Given the description of an element on the screen output the (x, y) to click on. 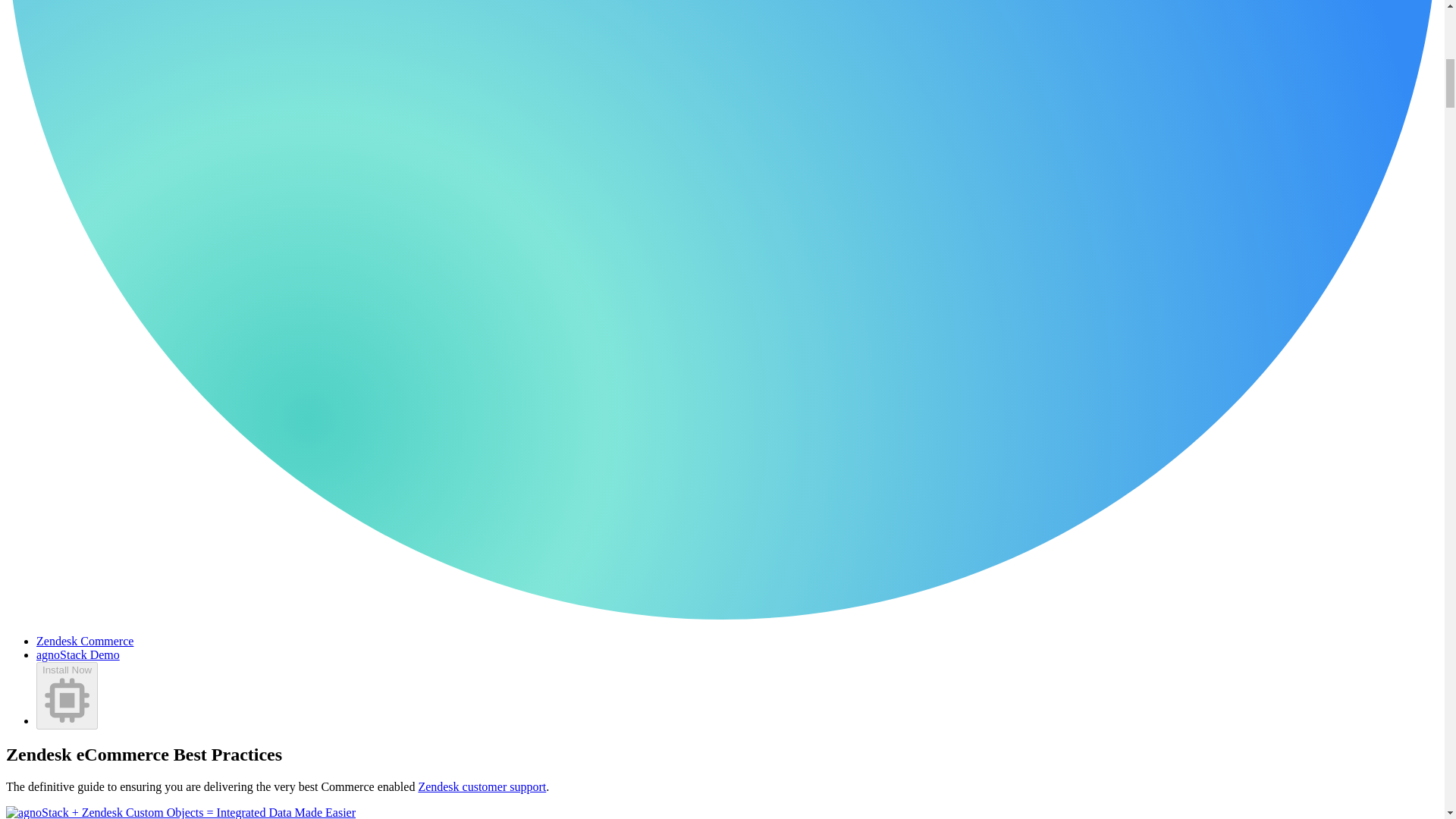
Zendesk Commerce (84, 640)
agnoStack Demo (77, 654)
Install Now (66, 695)
Zendesk customer support (481, 786)
